Given the description of an element on the screen output the (x, y) to click on. 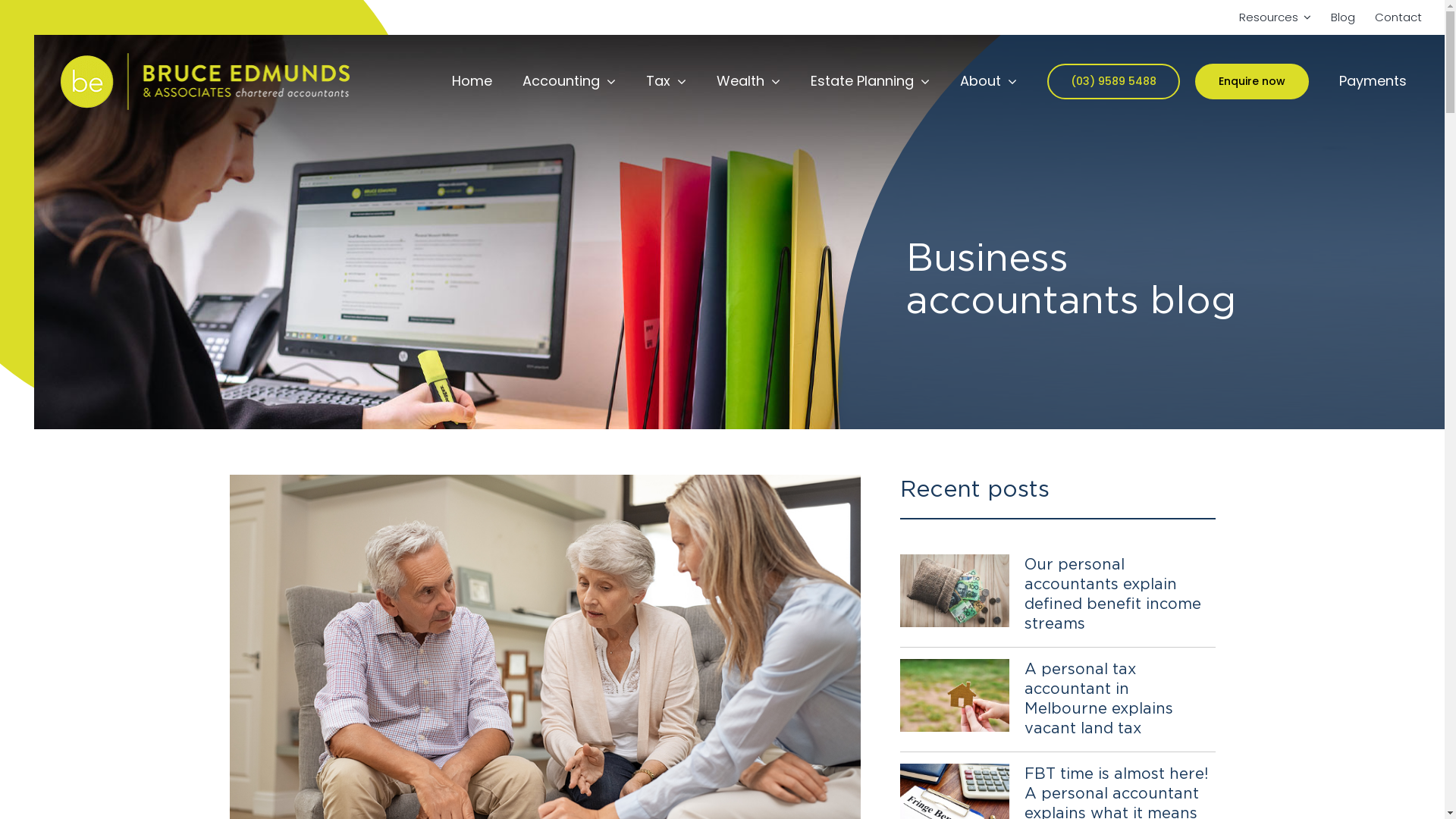
Estate Planning Element type: text (869, 80)
(03) 9589 5488 Element type: text (1113, 80)
Contact Element type: text (1397, 17)
Payments Element type: text (1372, 80)
Wealth Element type: text (748, 80)
About Element type: text (988, 80)
Resources Element type: text (1275, 17)
Enquire now Element type: text (1251, 80)
Home Element type: text (471, 80)
Tax Element type: text (666, 80)
Blog Element type: text (1342, 17)
Accounting Element type: text (568, 80)
